Given the description of an element on the screen output the (x, y) to click on. 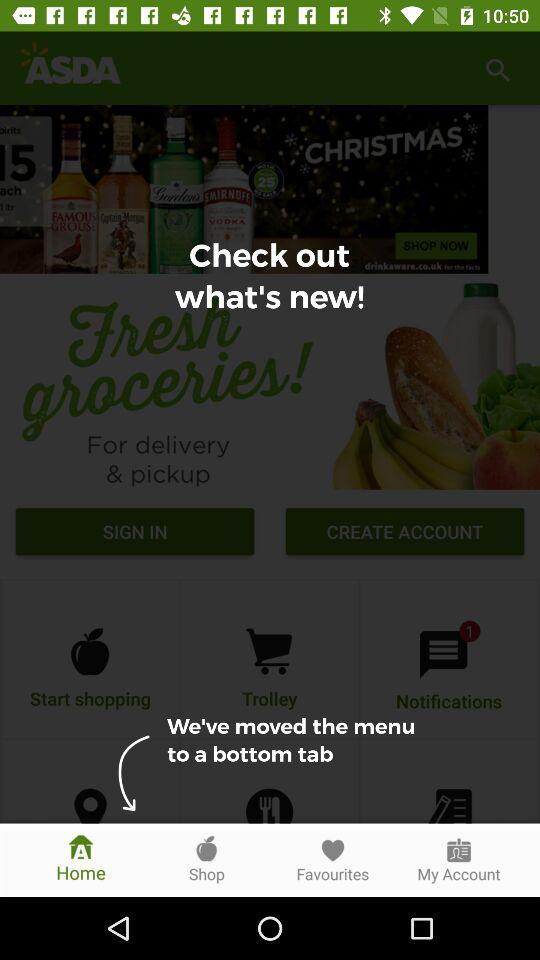
tap icon above 1 (404, 534)
